Given the description of an element on the screen output the (x, y) to click on. 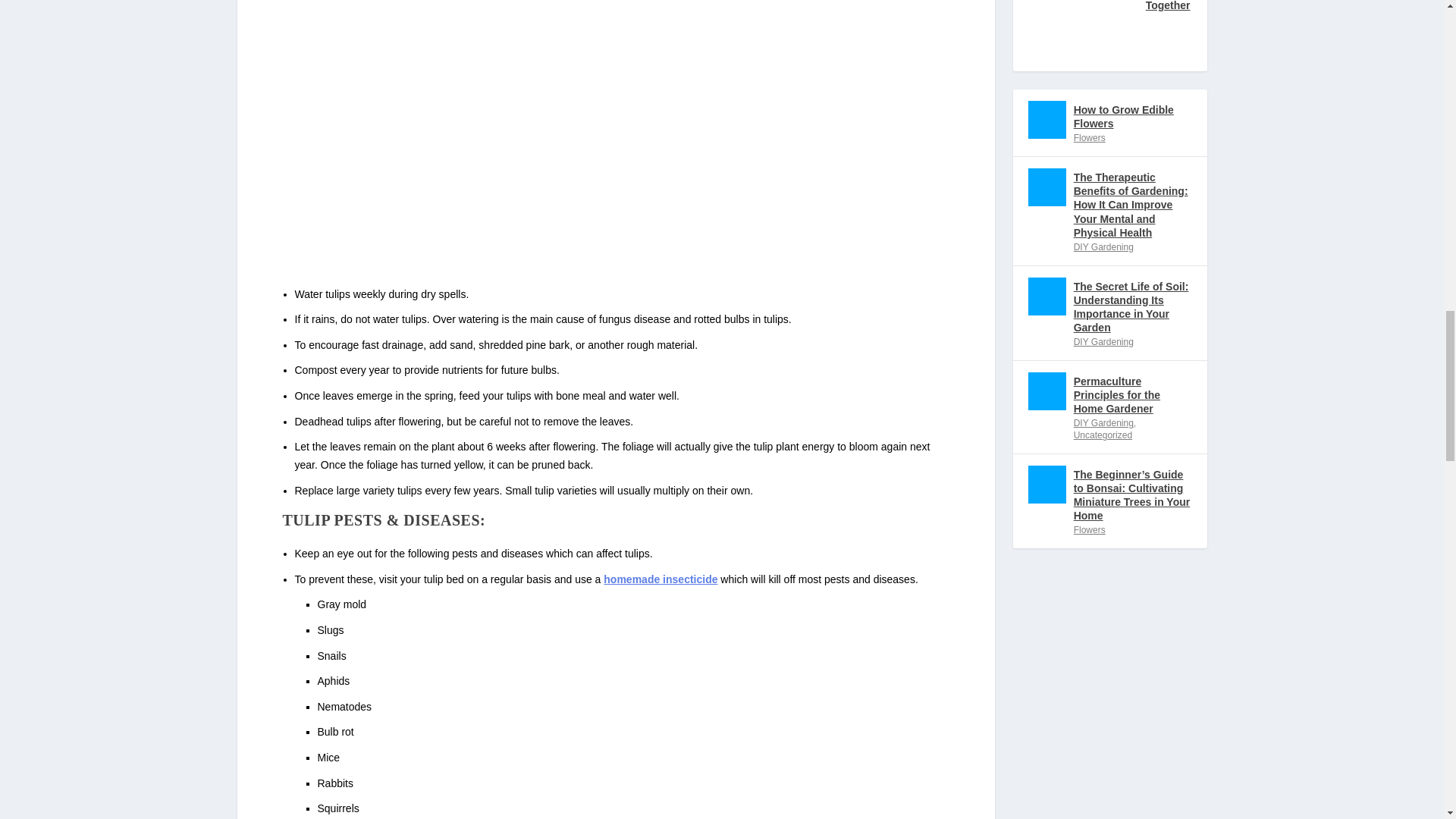
colored tulips (427, 127)
homemade insecticide (660, 579)
